Given the description of an element on the screen output the (x, y) to click on. 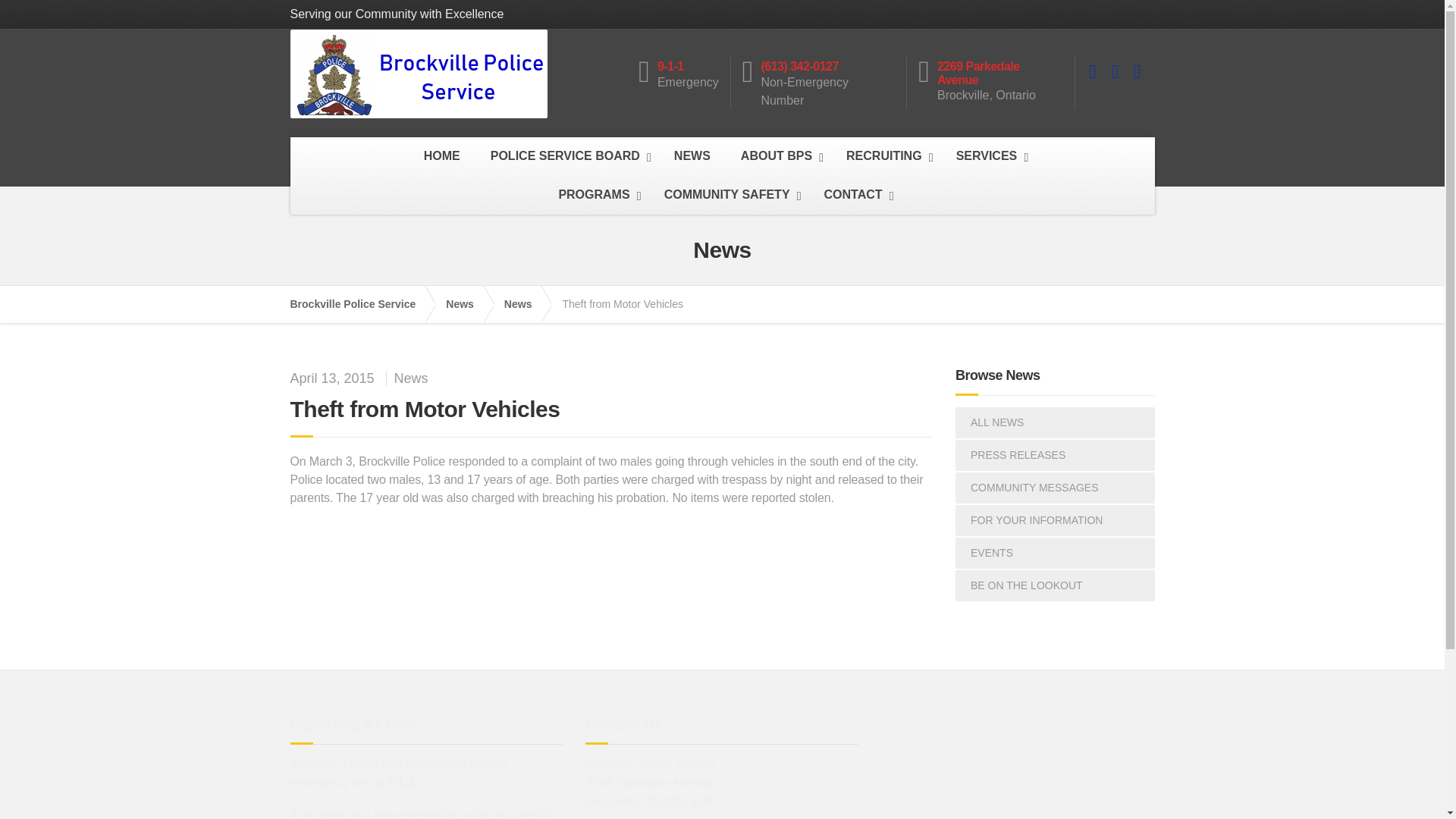
RECRUITING (885, 156)
fa-instagram (1136, 70)
HOME (442, 156)
Recruiting (885, 156)
About BPS (778, 156)
fa-facebook (1092, 70)
POLICE SERVICE BOARD (567, 156)
Contact (855, 195)
SERVICES (988, 156)
fa-twitter (1114, 70)
Police Service Board (567, 156)
NEWS (692, 156)
